Given the description of an element on the screen output the (x, y) to click on. 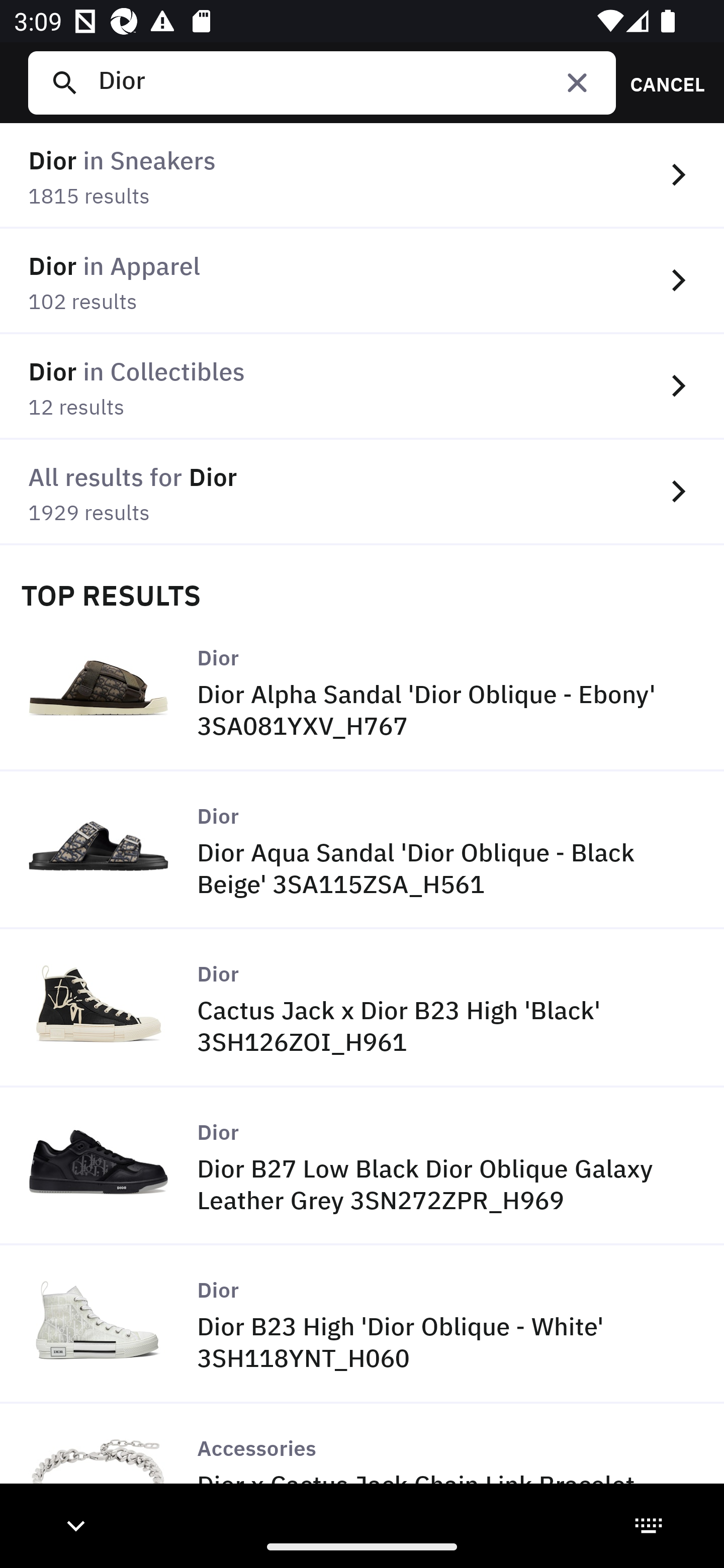
CANCEL (660, 82)
Dior (349, 82)
 (577, 82)
Dior  in Sneakers 1815 results  (362, 175)
Dior  in Apparel 102 results  (362, 280)
Dior  in Collectibles 12 results  (362, 386)
All results for  Dior 1929 results  (362, 492)
